Given the description of an element on the screen output the (x, y) to click on. 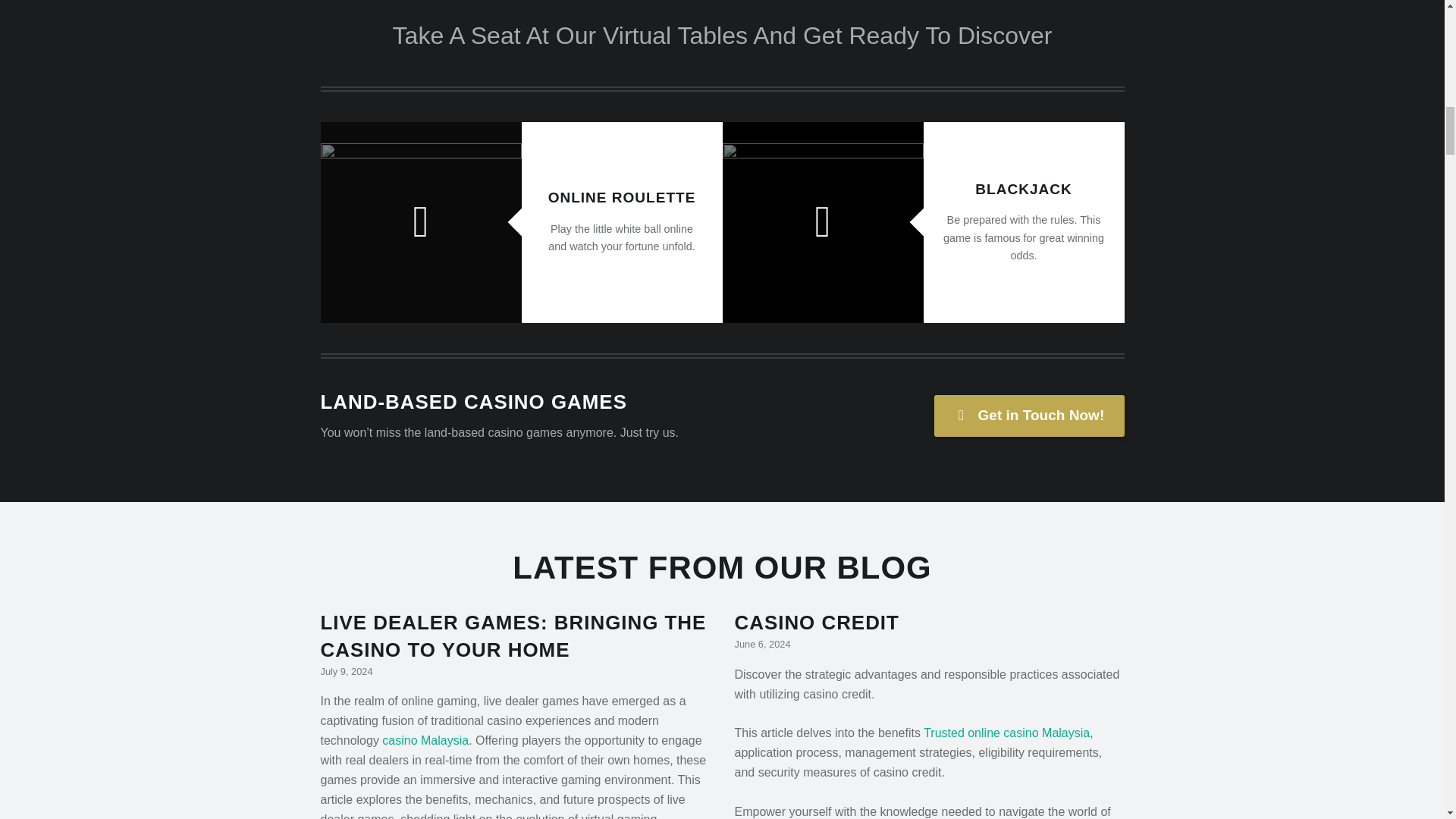
July 9, 2024 (346, 671)
LIVE DEALER GAMES: BRINGING THE CASINO TO YOUR HOME (513, 635)
2:58 pm (346, 671)
Trusted online casino Malaysia (1006, 732)
pexels-kendall-hoopes-1796794 (822, 222)
Get in Touch Now! (1029, 414)
June 6, 2024 (761, 644)
2:35 pm (761, 644)
CASINO CREDIT (815, 622)
casino Malaysia (424, 739)
